Given the description of an element on the screen output the (x, y) to click on. 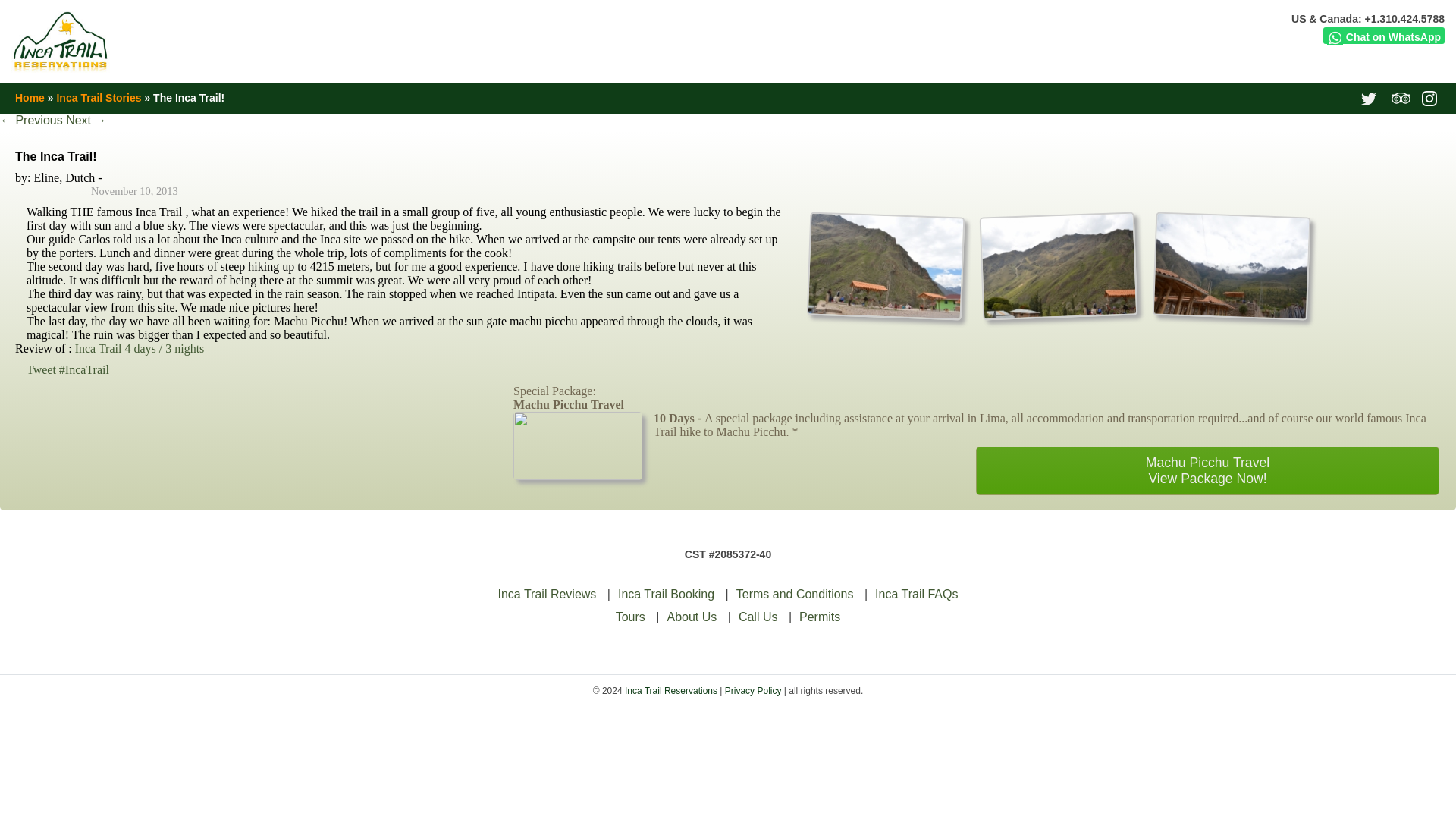
Machu Picchu Inca Trail November 10 2013-2 (1230, 309)
Machu Picchu Inca Trail November 10 2013 (883, 262)
Inca Trail Reviews (546, 594)
Privacy Policy (753, 690)
facebook (1309, 97)
instagram (1431, 97)
Inca Trail Stories (98, 97)
Terms and Conditions (794, 594)
Permits (819, 616)
Tours (630, 616)
